Given the description of an element on the screen output the (x, y) to click on. 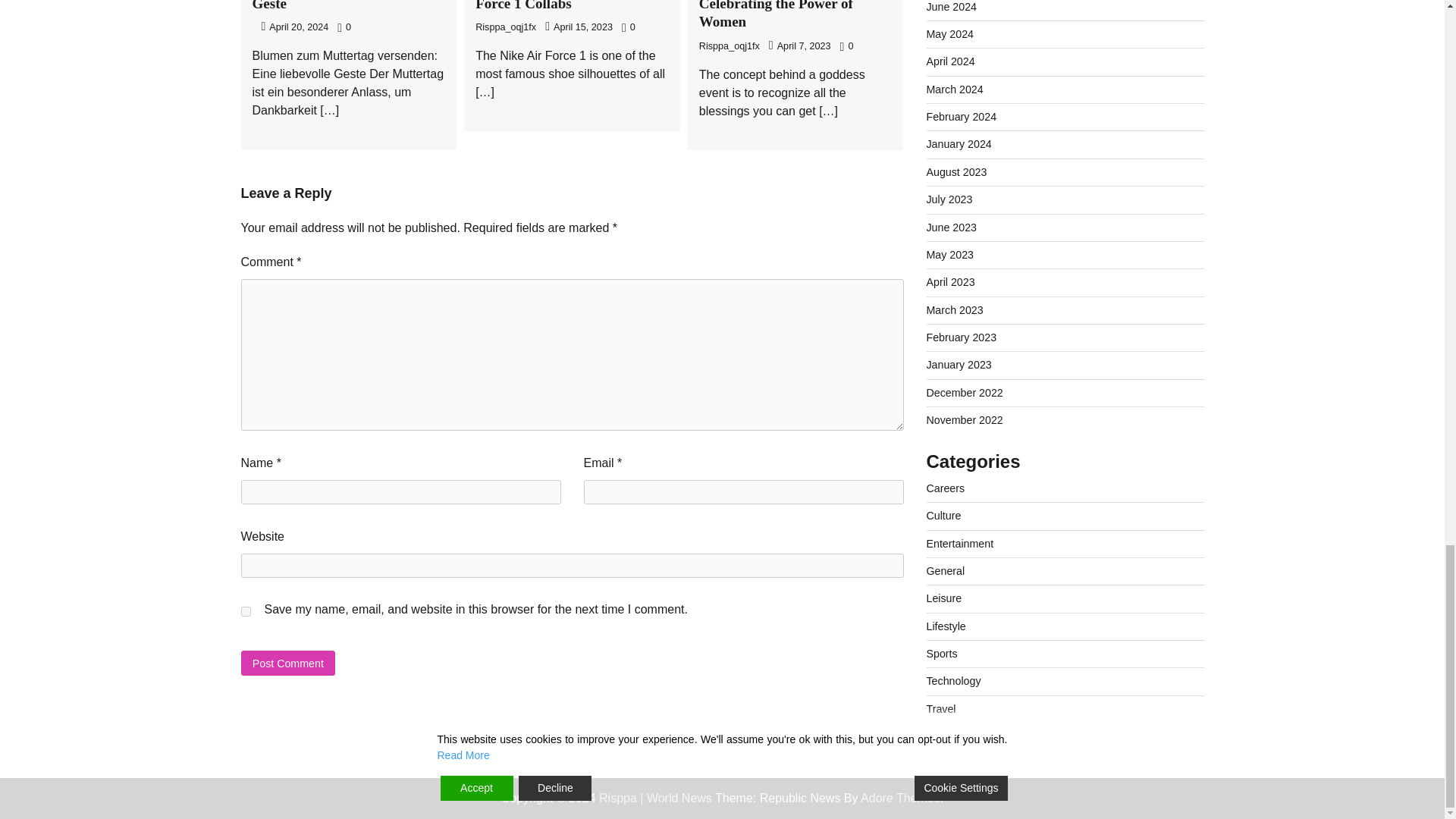
Post Comment (288, 662)
Post Comment (288, 662)
Blumen zum Muttertag versenden: Eine liebevolle Geste (331, 5)
yes (245, 611)
